Given the description of an element on the screen output the (x, y) to click on. 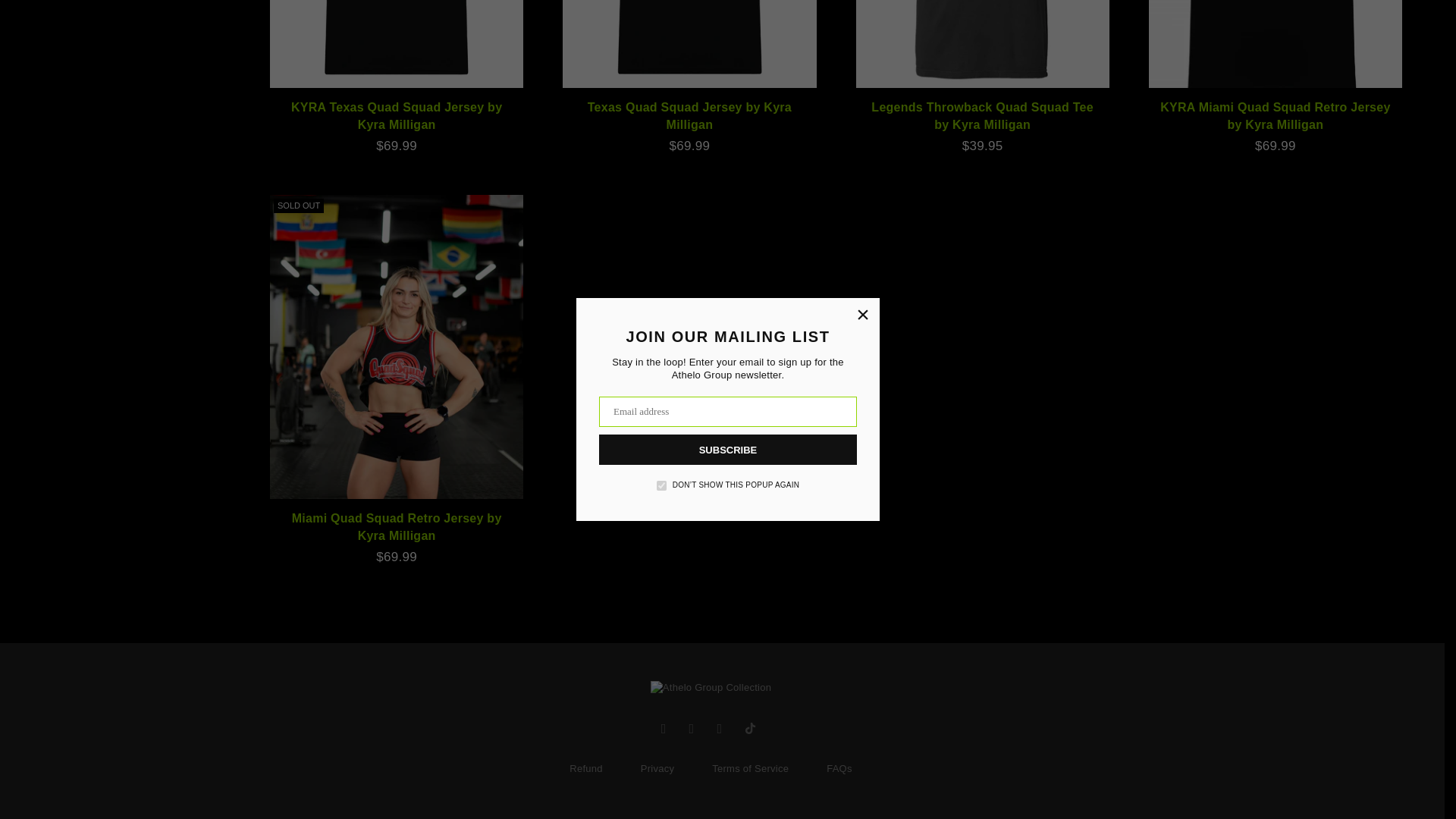
SUBSCRIBE (727, 55)
on (661, 91)
